Given the description of an element on the screen output the (x, y) to click on. 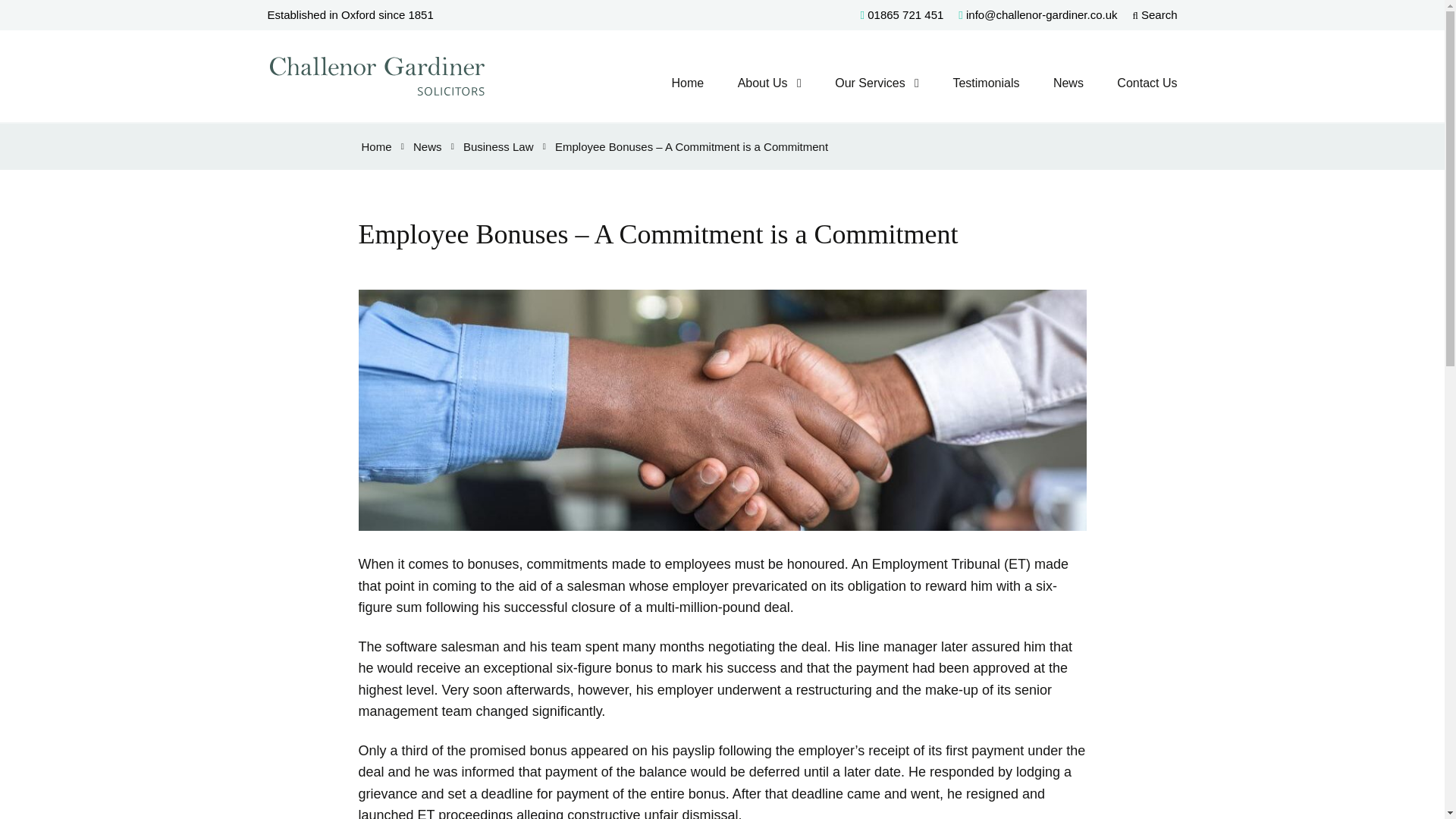
Home (687, 83)
Testimonials (985, 83)
Our Services (869, 83)
Go to the Business Law category archives. (498, 146)
About Us (762, 83)
Home (376, 146)
Go to Home. (376, 146)
Contact Us (1146, 83)
01865 721 451 (901, 14)
News (1067, 83)
Go to News. (427, 146)
Search (1154, 14)
